Given the description of an element on the screen output the (x, y) to click on. 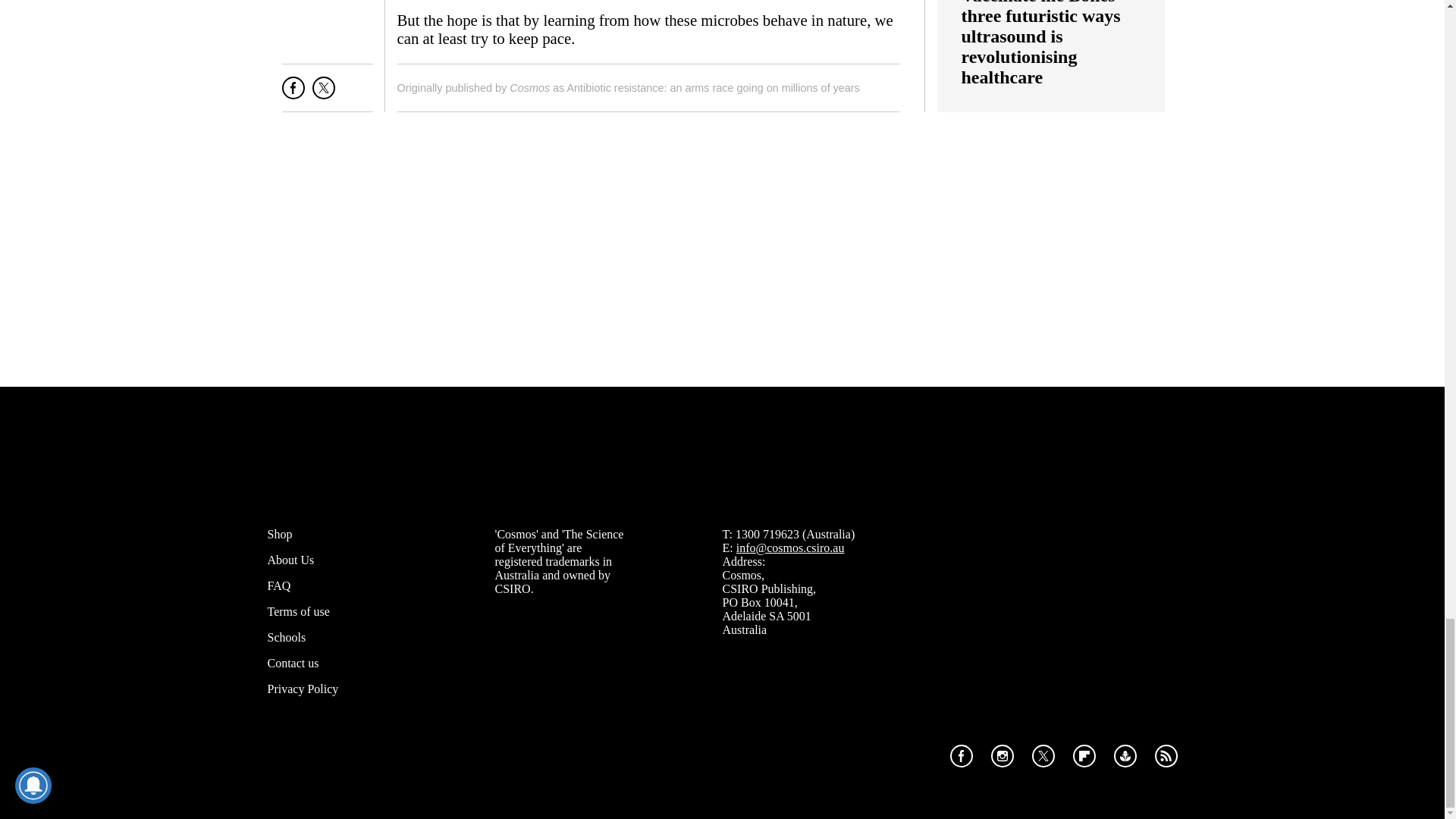
Share on Facebook (293, 93)
Tweet (323, 93)
